Given the description of an element on the screen output the (x, y) to click on. 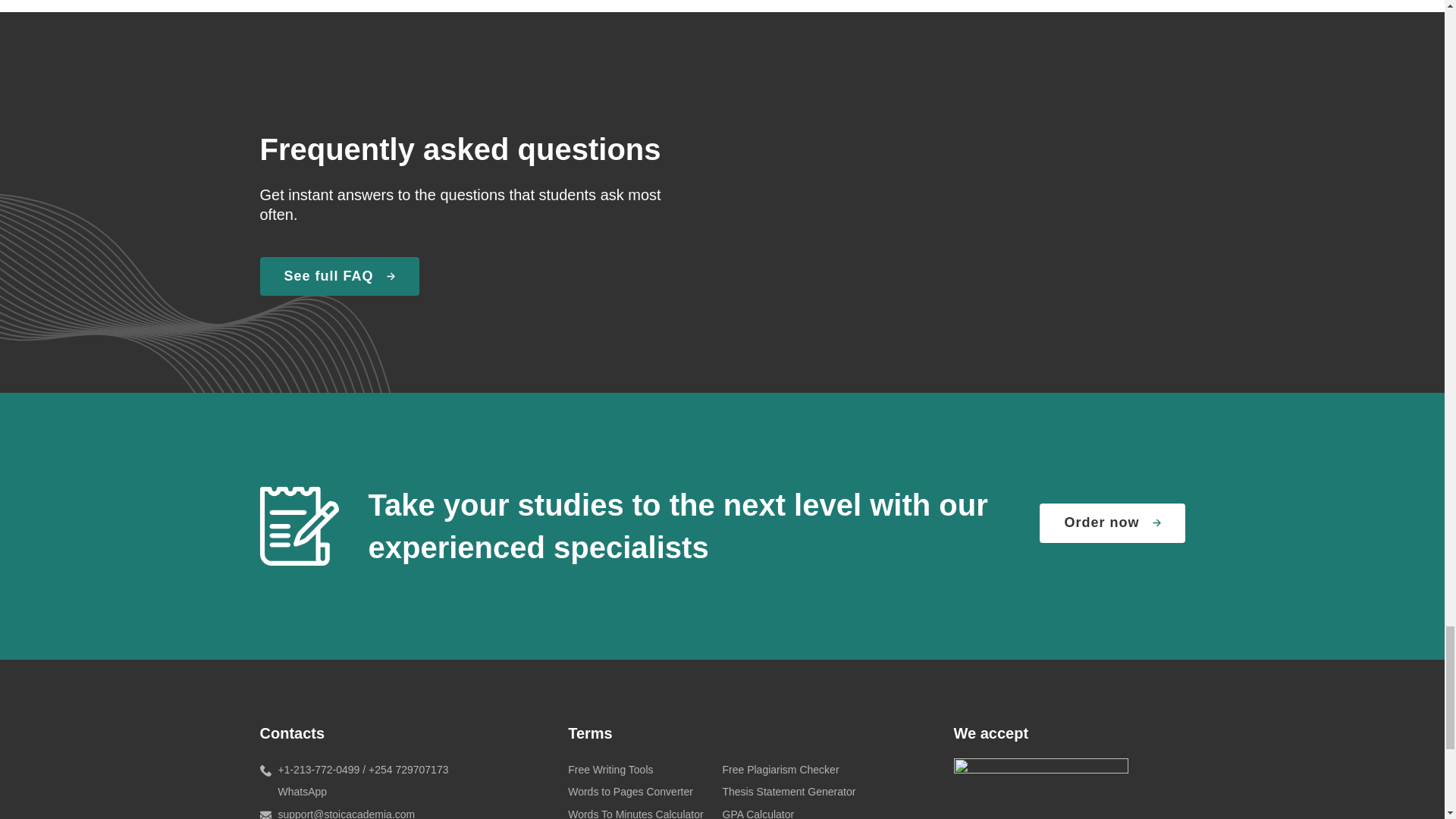
Words to Pages Converter (630, 791)
Thesis Statement Generator (789, 791)
GPA Calculator (757, 813)
Words To Minutes Calculator (635, 813)
See full FAQ (339, 276)
Free Writing Tools (609, 769)
Order now (1112, 522)
Free Plagiarism Checker (780, 769)
